Given the description of an element on the screen output the (x, y) to click on. 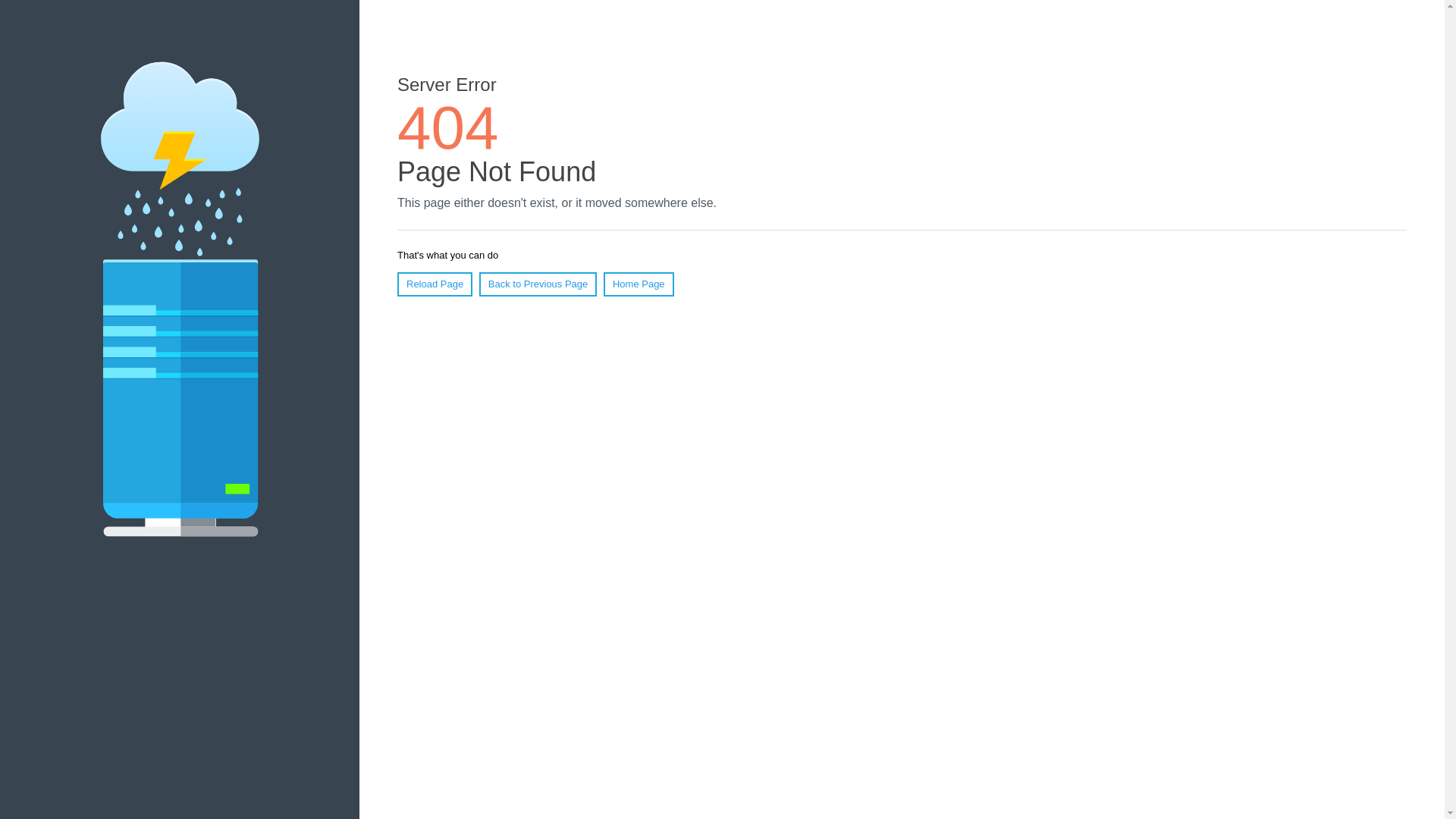
Home Page Element type: text (638, 284)
Back to Previous Page Element type: text (538, 284)
Reload Page Element type: text (434, 284)
